Given the description of an element on the screen output the (x, y) to click on. 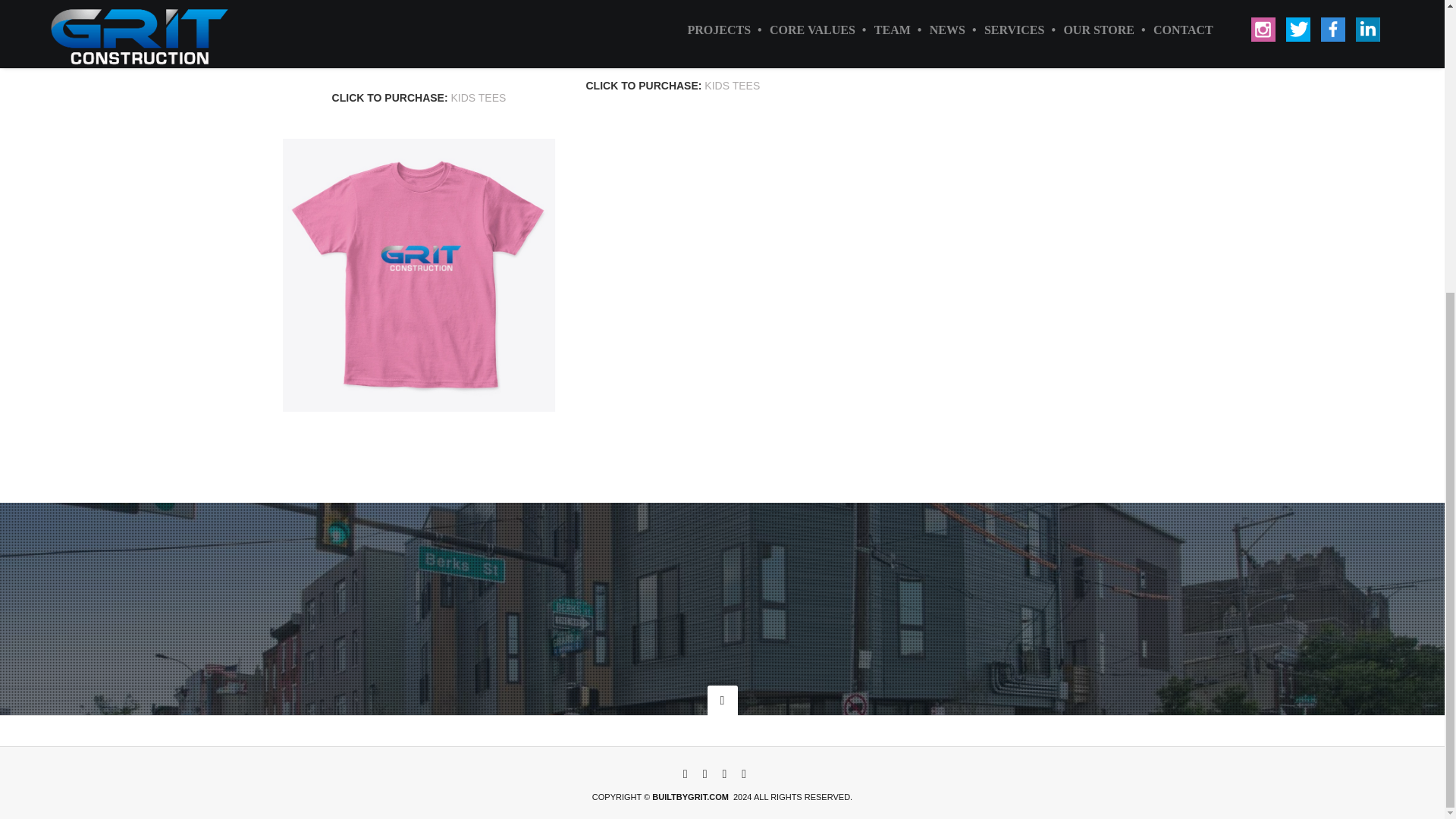
BUilt By Grit (690, 796)
BUILTBYGRIT.COM (690, 796)
KIDS TEES (477, 97)
KIDS TEES (732, 85)
